Given the description of an element on the screen output the (x, y) to click on. 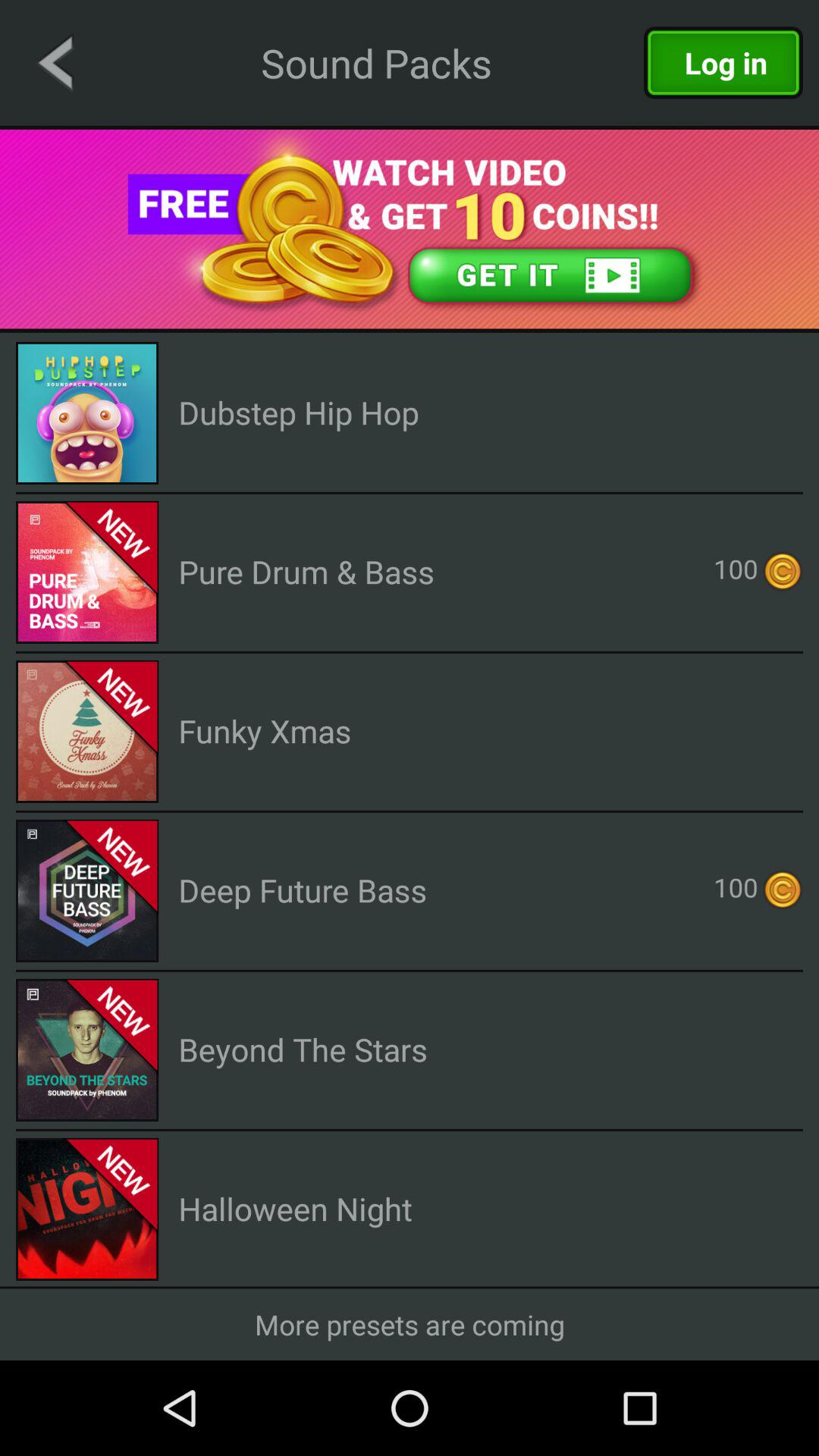
turn on pure drum & bass icon (306, 571)
